Given the description of an element on the screen output the (x, y) to click on. 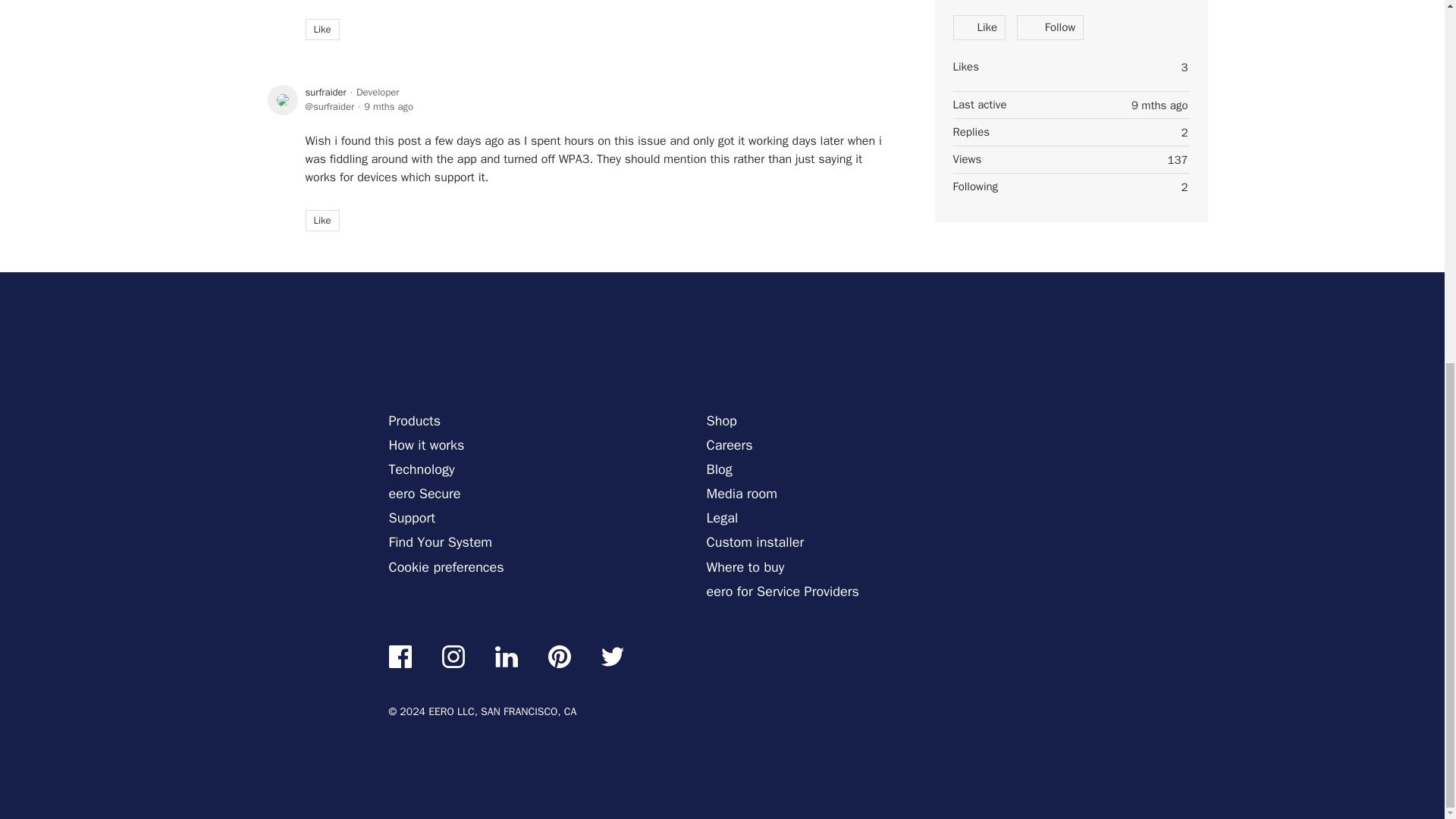
Like (321, 29)
Shop (721, 422)
Cookie preferences (445, 568)
surfraider (325, 92)
eero Secure (424, 495)
Technology (421, 470)
Find Your System (440, 543)
How it works (426, 446)
Products (414, 422)
Like (321, 219)
